Given the description of an element on the screen output the (x, y) to click on. 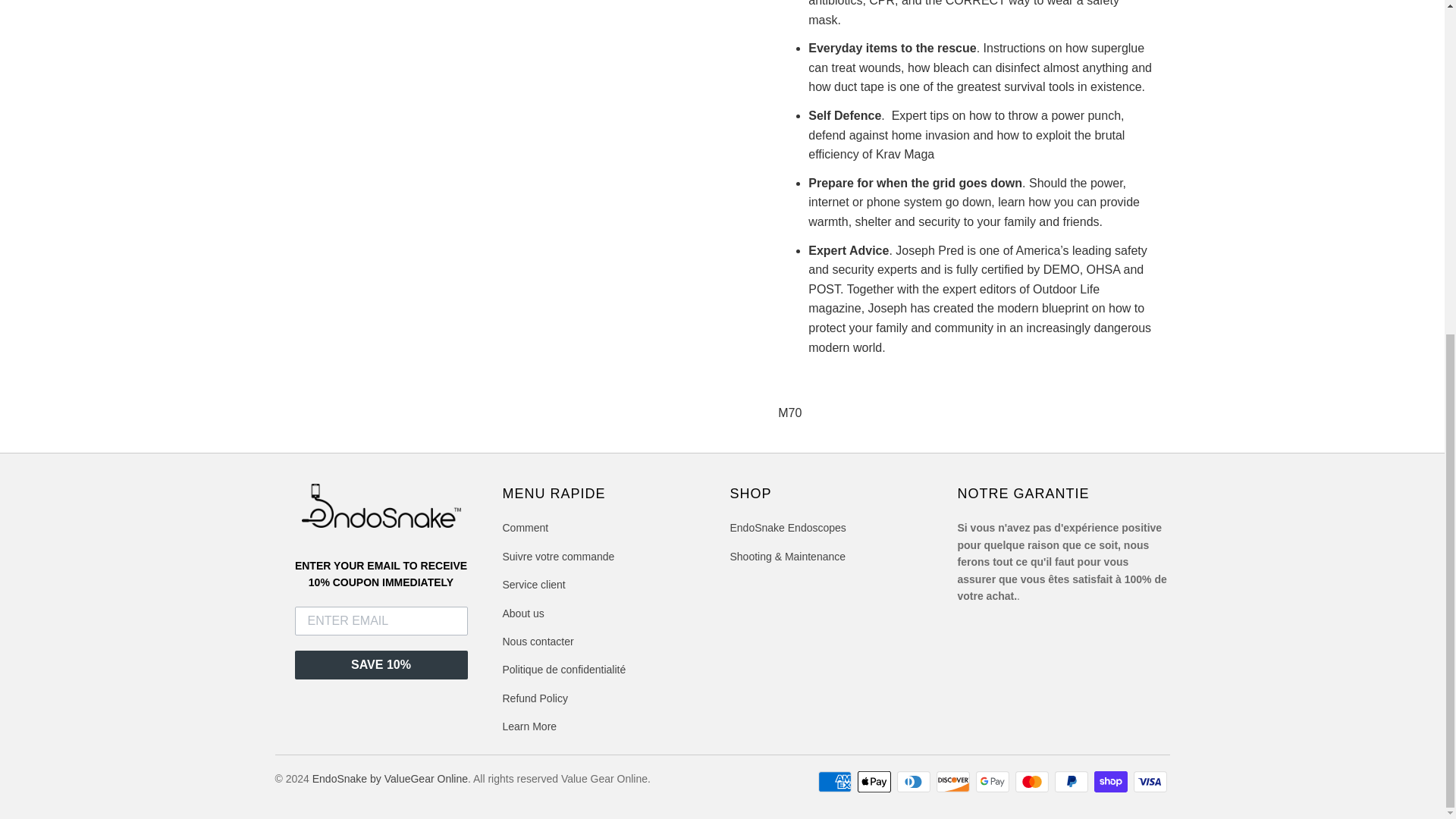
Visa (1150, 781)
Mastercard (1032, 781)
PayPal (1072, 781)
Discover (954, 781)
Diners Club (914, 781)
Google Pay (993, 781)
Apple Pay (875, 781)
Shop Pay (1112, 781)
American Express (836, 781)
